Given the description of an element on the screen output the (x, y) to click on. 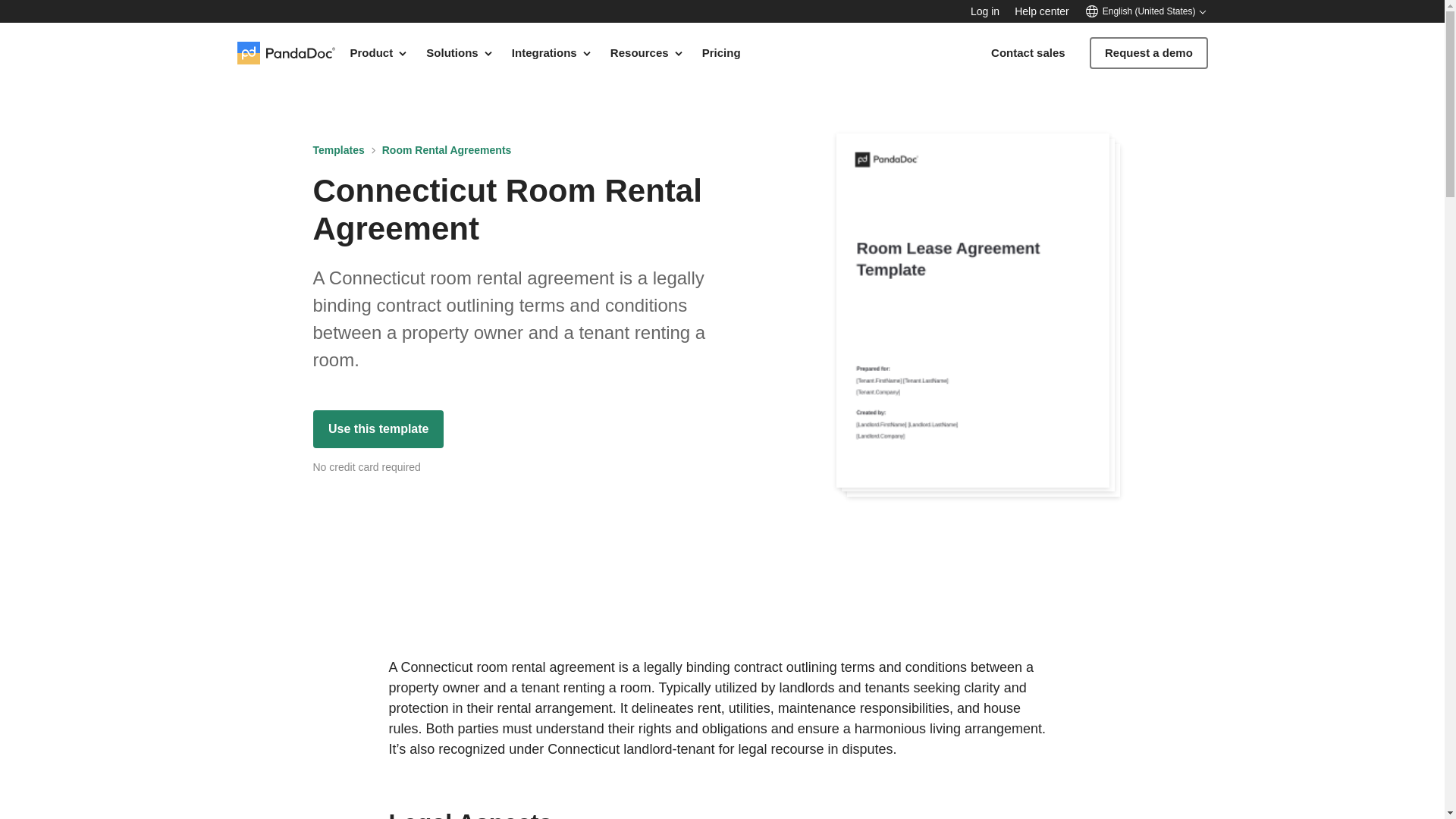
Log in (984, 10)
Product (379, 52)
Help center (1041, 10)
Solutions (459, 52)
